Given the description of an element on the screen output the (x, y) to click on. 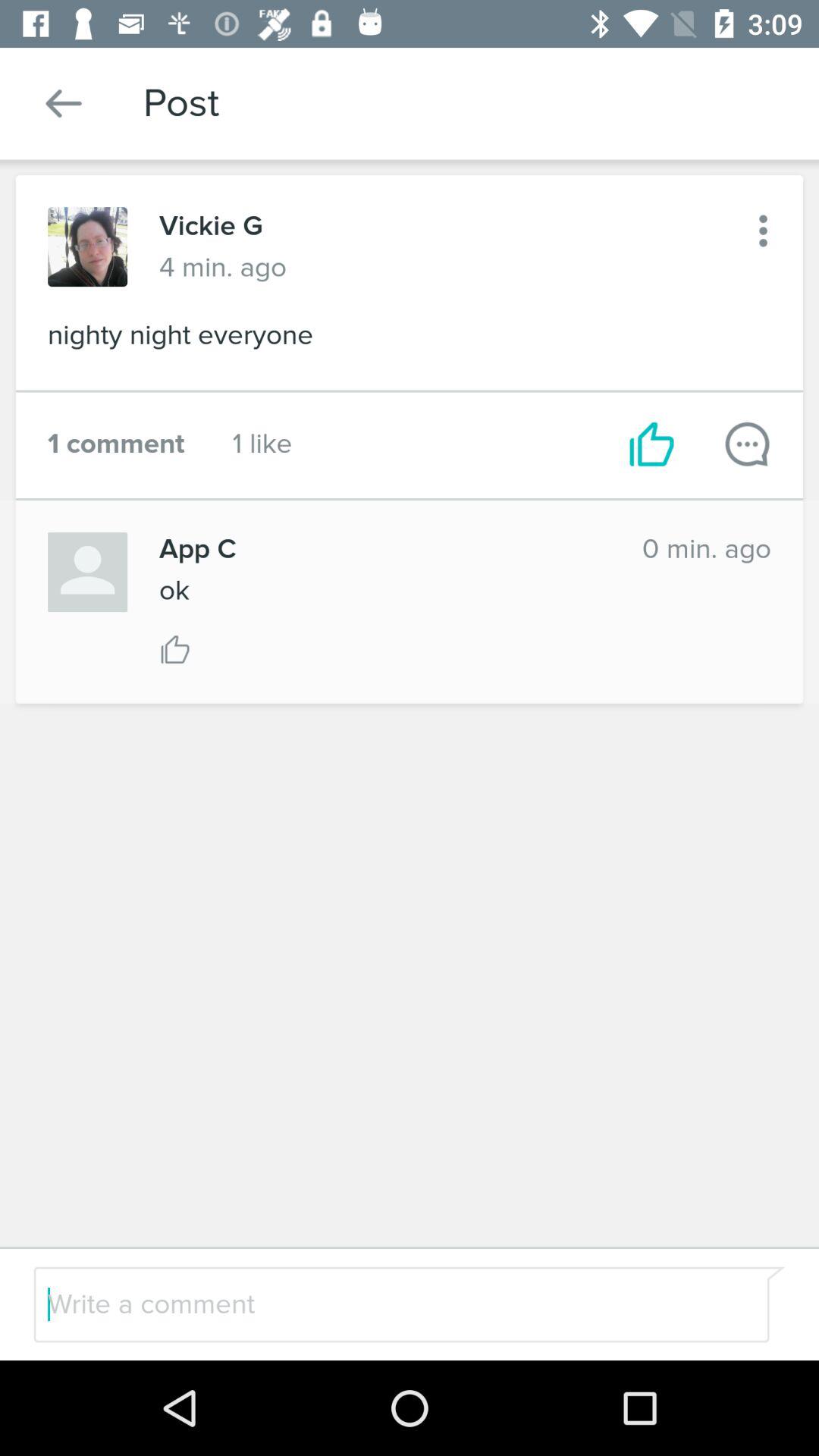
like comment (175, 649)
